Given the description of an element on the screen output the (x, y) to click on. 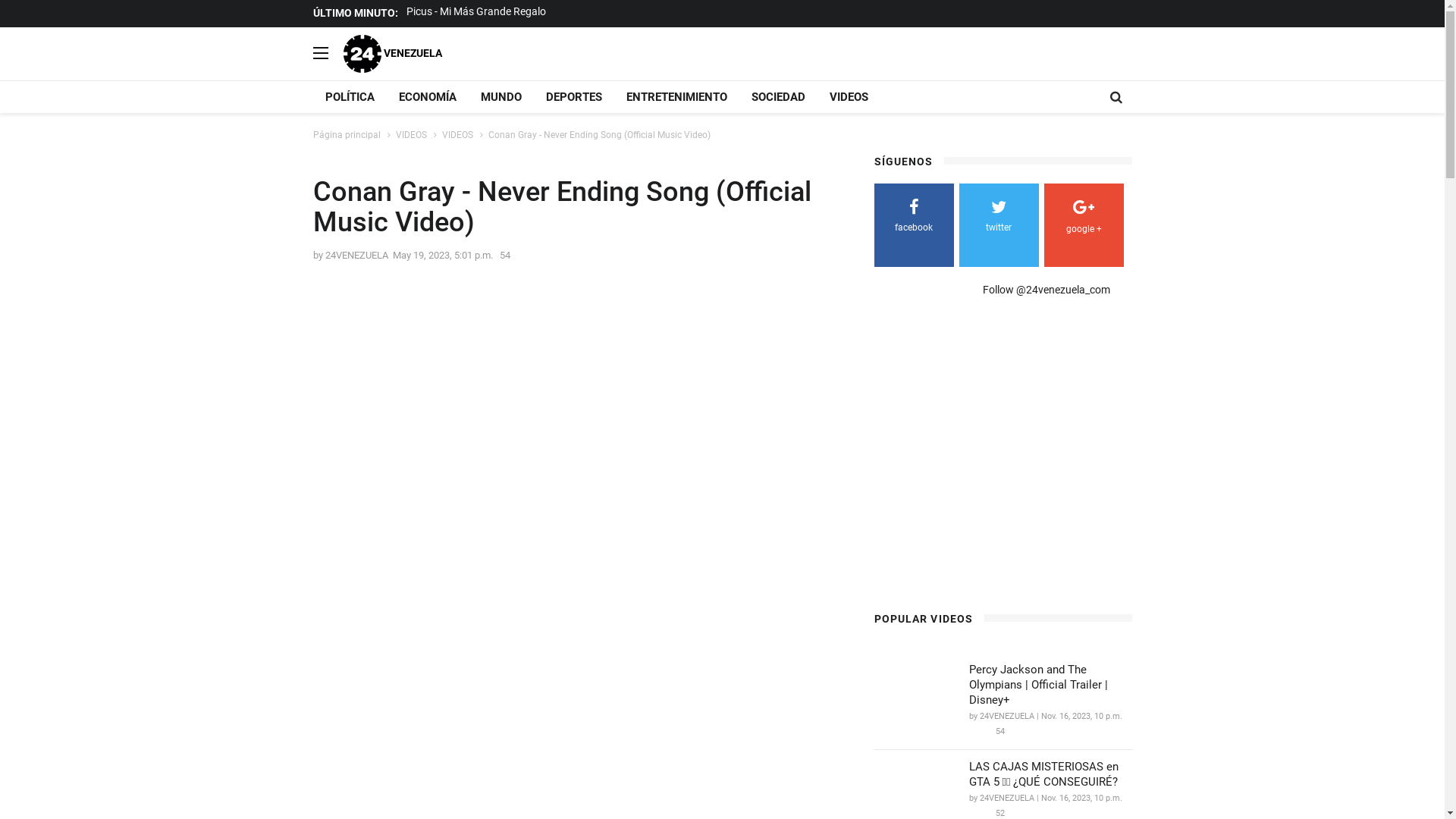
Percy Jackson and The Olympians | Official Trailer | Disney+ Element type: text (1050, 684)
MUNDO Element type: text (500, 96)
ENTRETENIMIENTO Element type: text (676, 96)
google + Element type: text (1083, 219)
DEPORTES Element type: text (573, 96)
twitter Element type: text (998, 218)
VENEZUELA Element type: text (391, 53)
facebook Element type: text (913, 218)
Follow @24venezuela_com Element type: text (1046, 289)
Advertisement Element type: hover (1000, 460)
VIDEOS Element type: text (410, 134)
SOCIEDAD Element type: text (777, 96)
VIDEOS Element type: text (848, 96)
Advertisement Element type: hover (756, 384)
Myke Towers - LA FALDA (Video Oficial) Element type: text (498, 11)
VIDEOS Element type: text (456, 134)
